Given the description of an element on the screen output the (x, y) to click on. 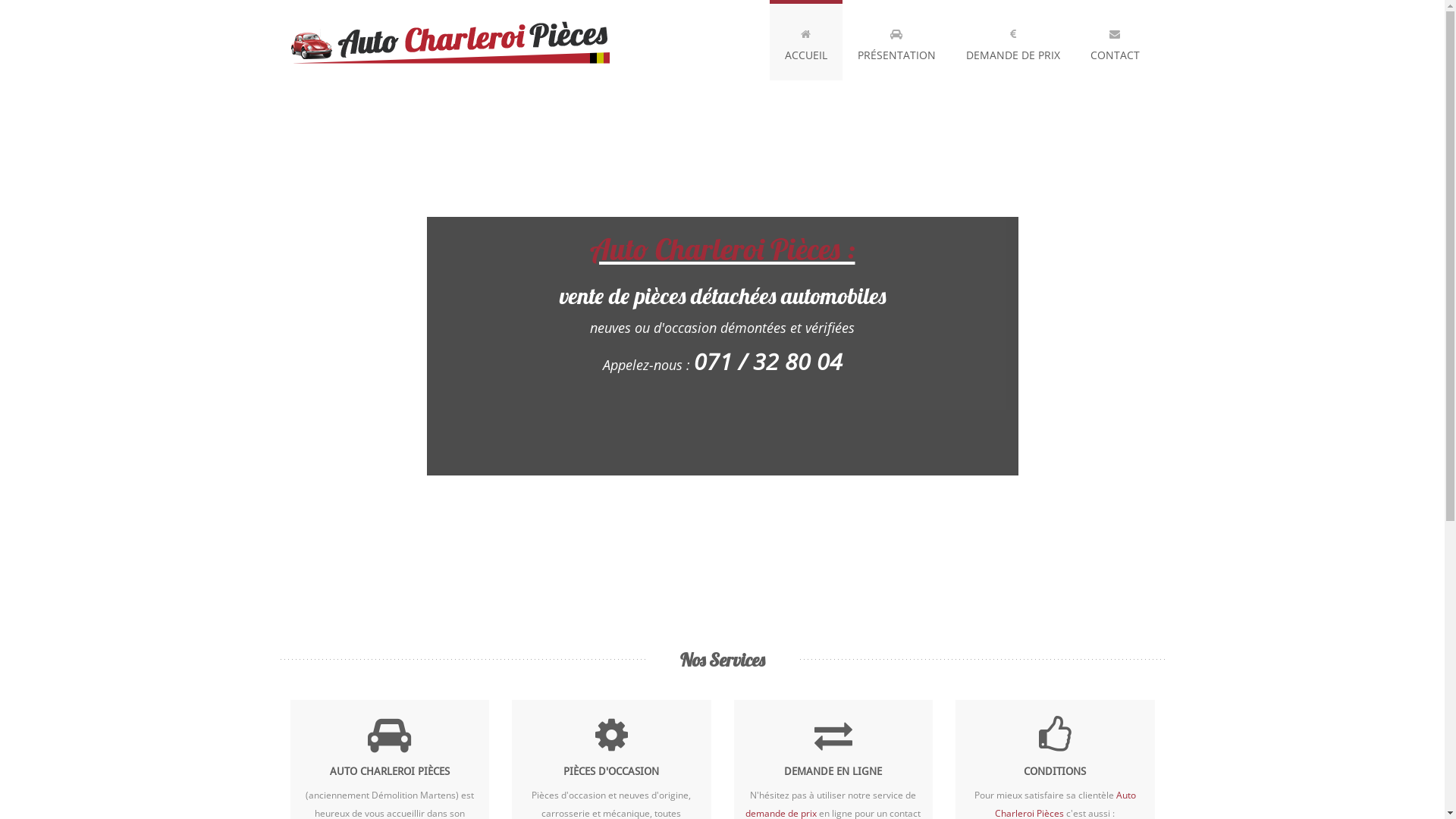
DEMANDE DE PRIX Element type: text (1012, 40)
CONTACT Element type: text (1114, 40)
071 / 32 80 04 Element type: text (767, 360)
ACCUEIL Element type: text (804, 40)
